Given the description of an element on the screen output the (x, y) to click on. 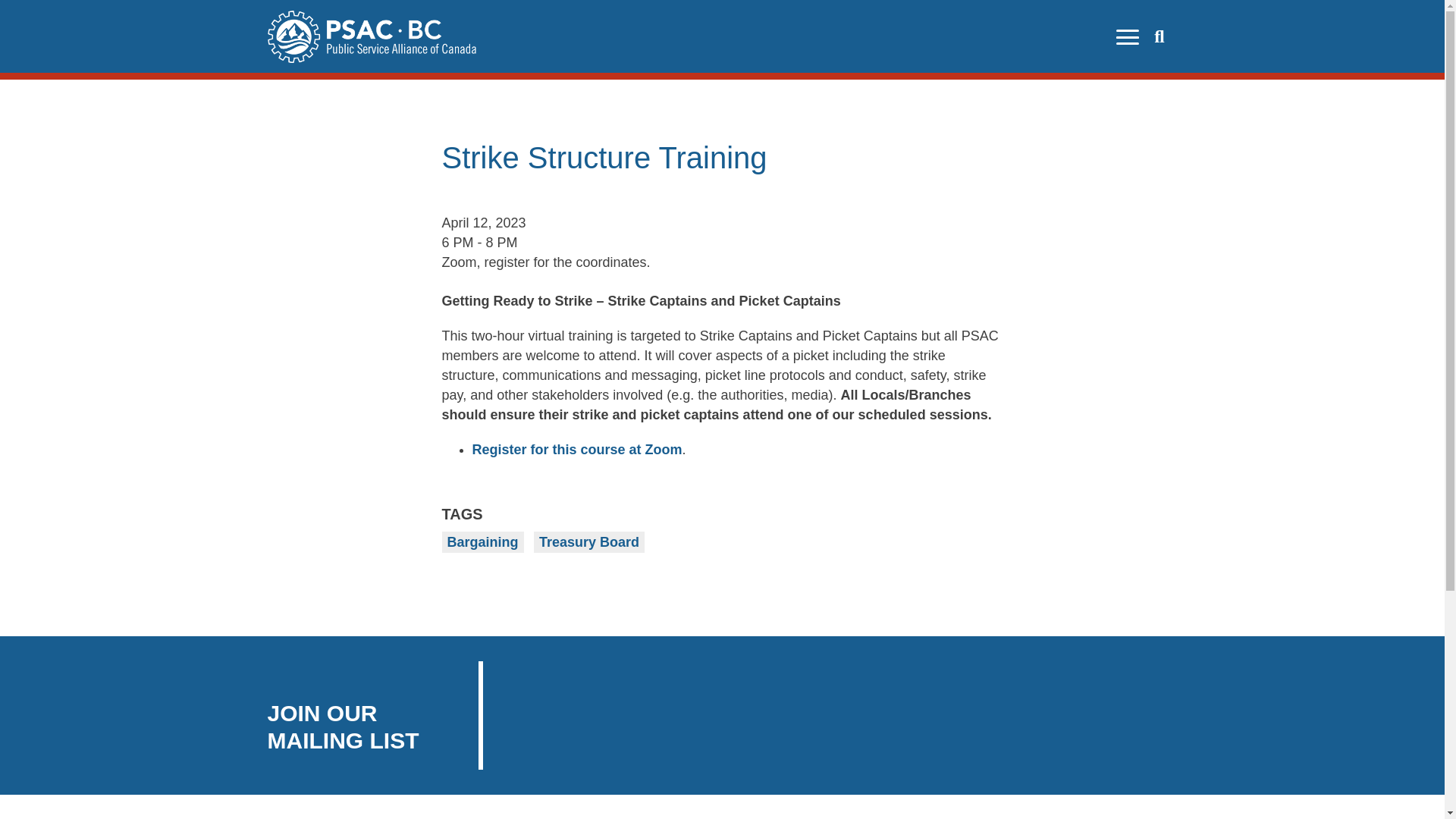
Search (1157, 37)
Treasury Board (589, 541)
Bargaining (481, 541)
Register for this course at Zoom (576, 449)
